Given the description of an element on the screen output the (x, y) to click on. 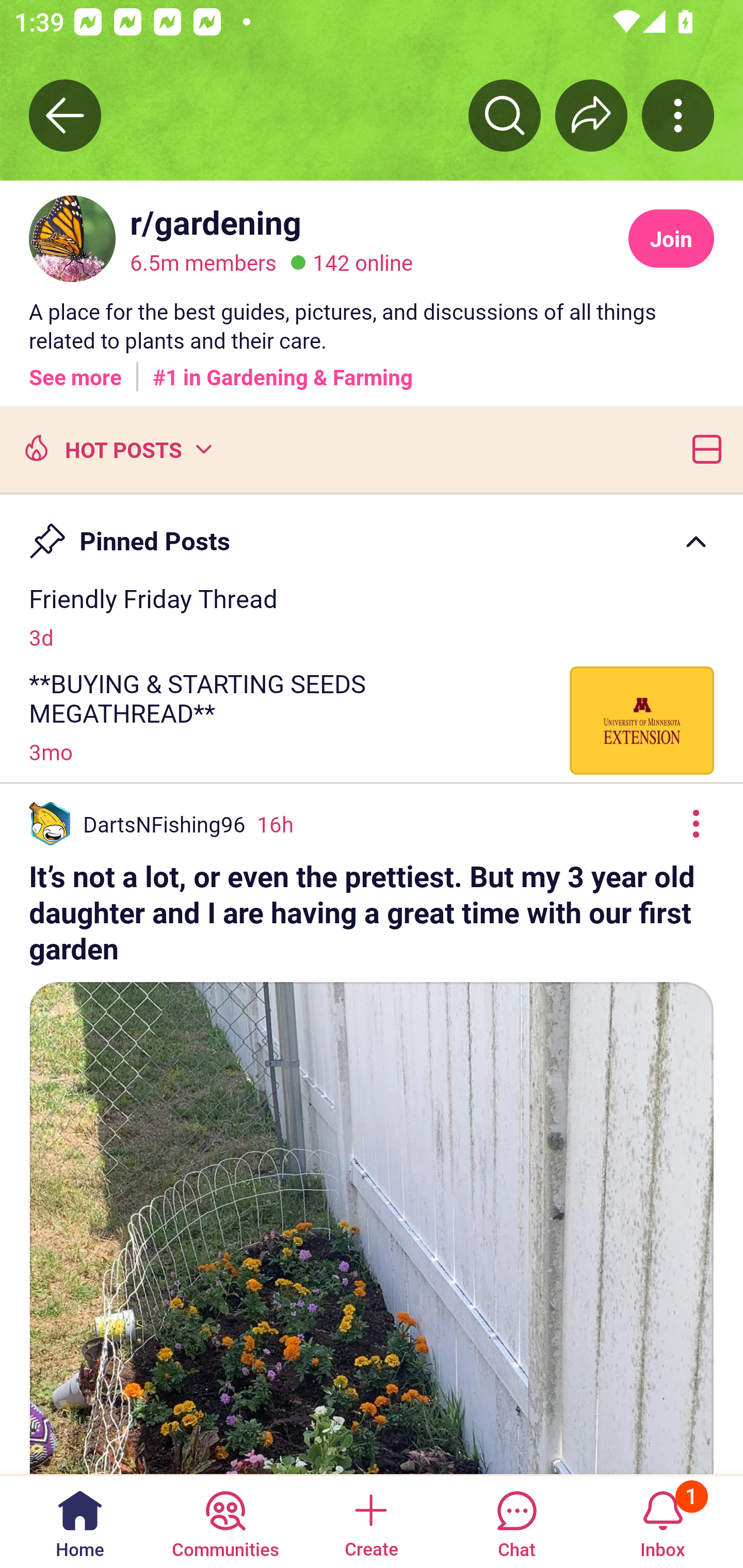
Back (64, 115)
Search r/﻿gardening (504, 115)
Share r/﻿gardening (591, 115)
More community actions (677, 115)
Hot posts HOT POSTS (116, 448)
Card (703, 448)
Pin Pinned Posts Caret (371, 531)
Friendly Friday Thread 3d (371, 615)
Home (80, 1520)
Communities (225, 1520)
Create a post Create (370, 1520)
Chat (516, 1520)
Inbox, has 1 notification 1 Inbox (662, 1520)
